Given the description of an element on the screen output the (x, y) to click on. 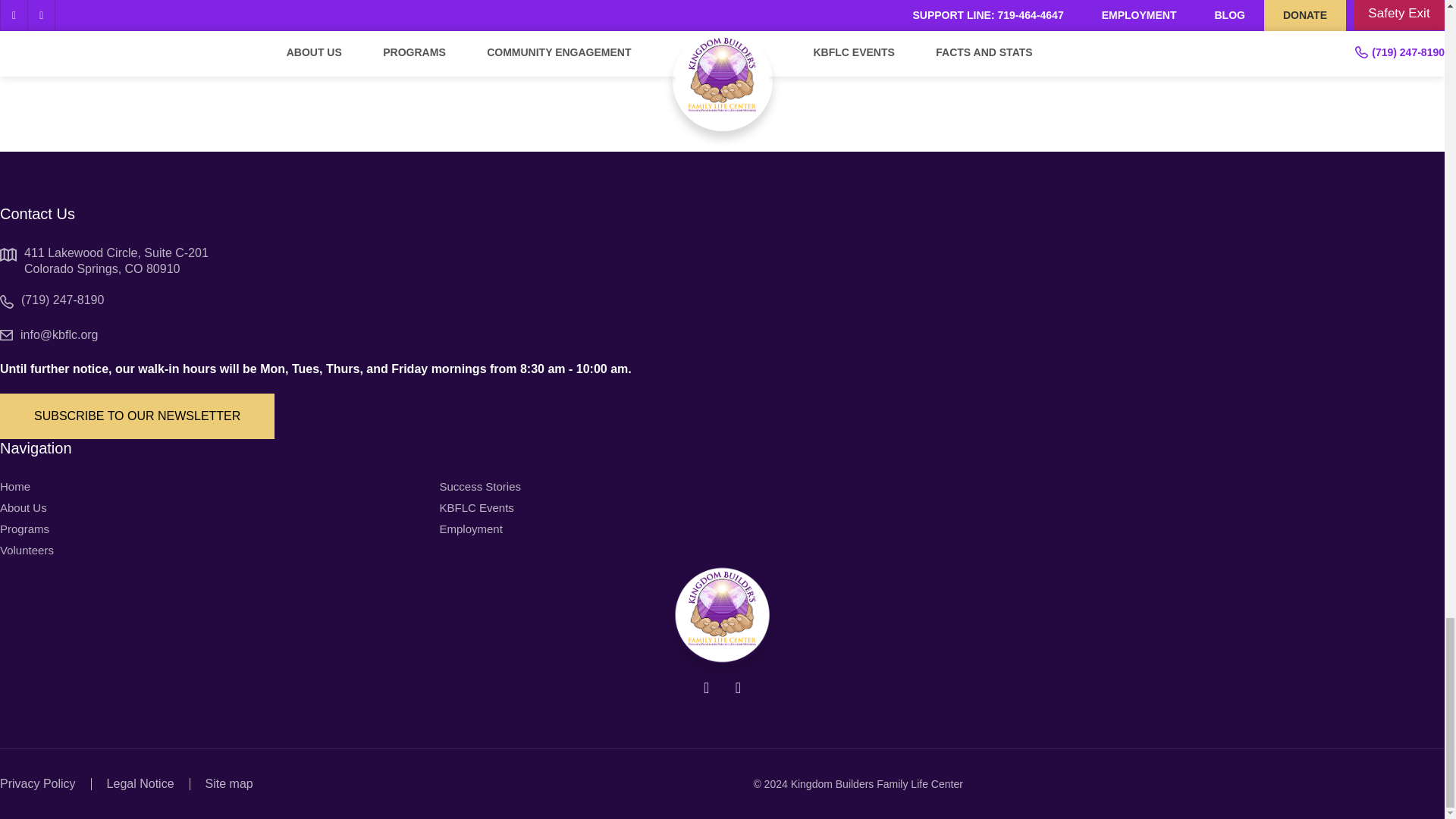
Site map (229, 783)
Success Stories (480, 486)
Home (15, 486)
Volunteers (26, 550)
Privacy Policy (37, 783)
Legal Notice (140, 783)
About Us (23, 508)
Programs (24, 529)
KBFLC Events (476, 508)
Employment (470, 529)
SUBSCRIBE TO OUR NEWSLETTER (137, 415)
